Given the description of an element on the screen output the (x, y) to click on. 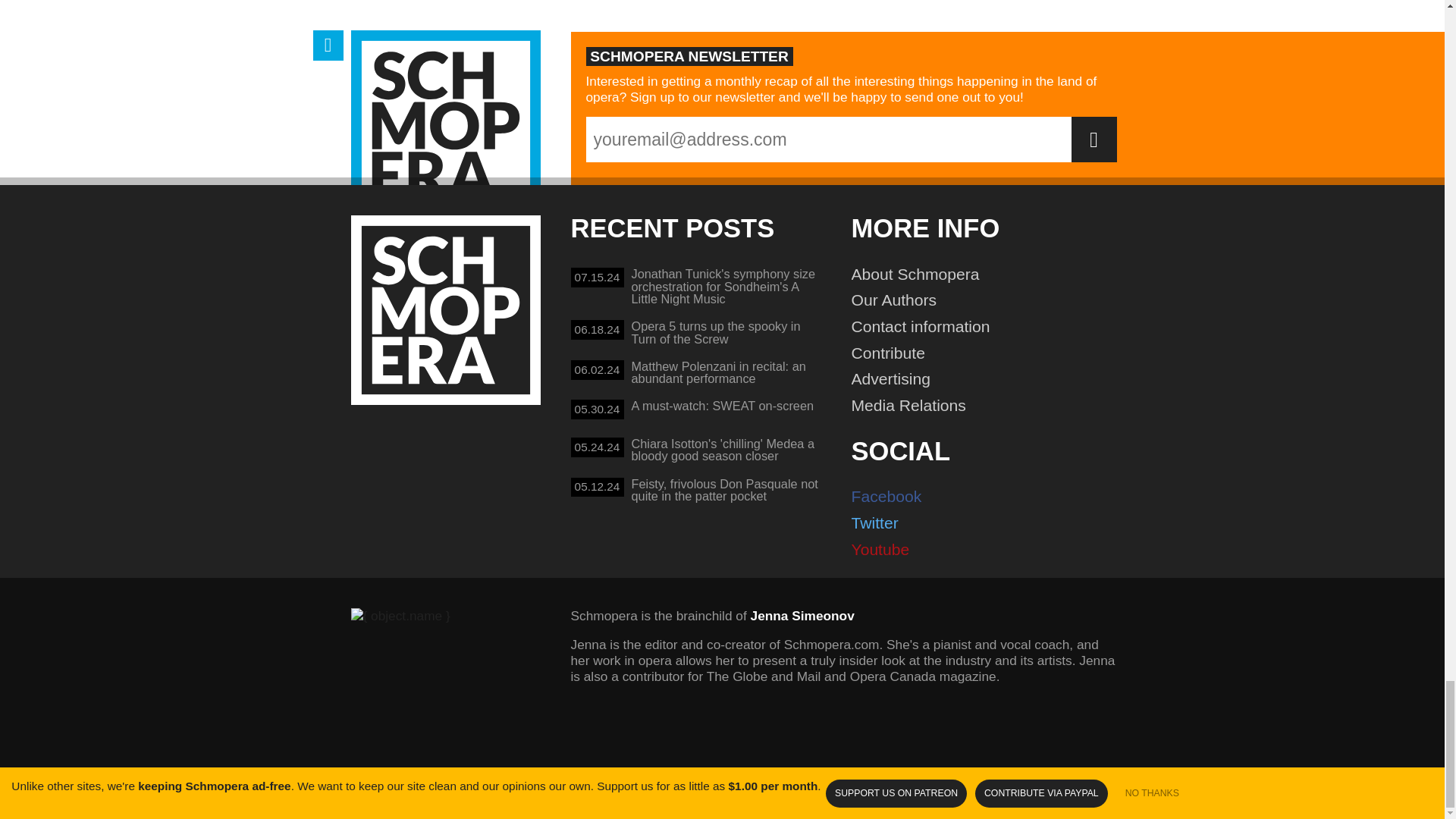
Media Relations (990, 405)
Contact information (990, 326)
Advertising (990, 379)
Back to home page (696, 334)
Contribute (445, 309)
Our Authors (990, 352)
About Schmopera (990, 300)
Facebook (990, 274)
Twitter (990, 497)
